Given the description of an element on the screen output the (x, y) to click on. 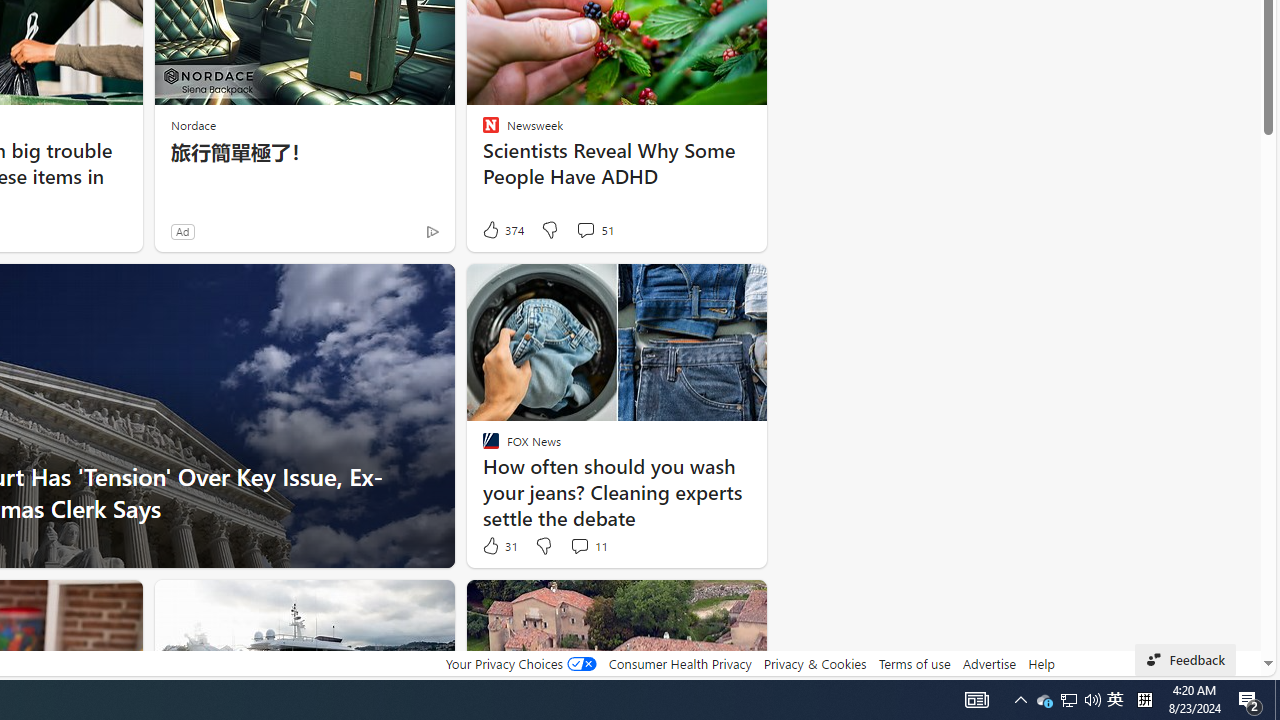
Consumer Health Privacy (680, 663)
View comments 11 Comment (587, 546)
View comments 51 Comment (594, 230)
Hide this story (706, 603)
Privacy & Cookies (814, 663)
Your Privacy Choices (520, 663)
Terms of use (914, 663)
View comments 51 Comment (585, 229)
